Given the description of an element on the screen output the (x, y) to click on. 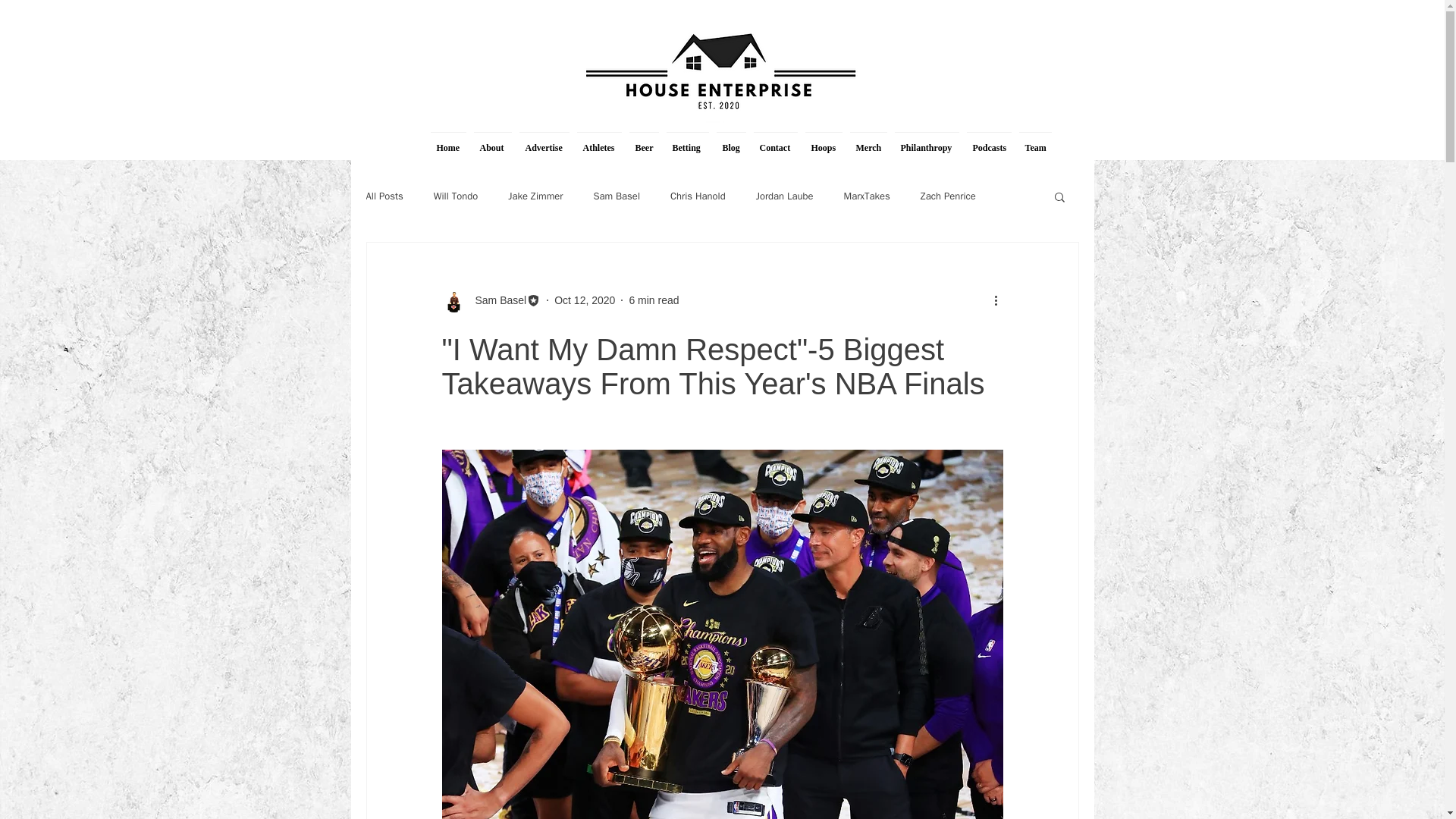
Jordan Laube (784, 196)
Philanthropy (925, 140)
Will Tondo (455, 196)
Athletes (599, 140)
Advertise (544, 140)
Oct 12, 2020 (584, 300)
Sam Basel (616, 196)
Jake Zimmer (535, 196)
Sam Basel (495, 300)
Betting (687, 140)
Contact (774, 140)
Team (1034, 140)
All Posts (384, 196)
6 min read (653, 300)
MarxTakes (866, 196)
